Given the description of an element on the screen output the (x, y) to click on. 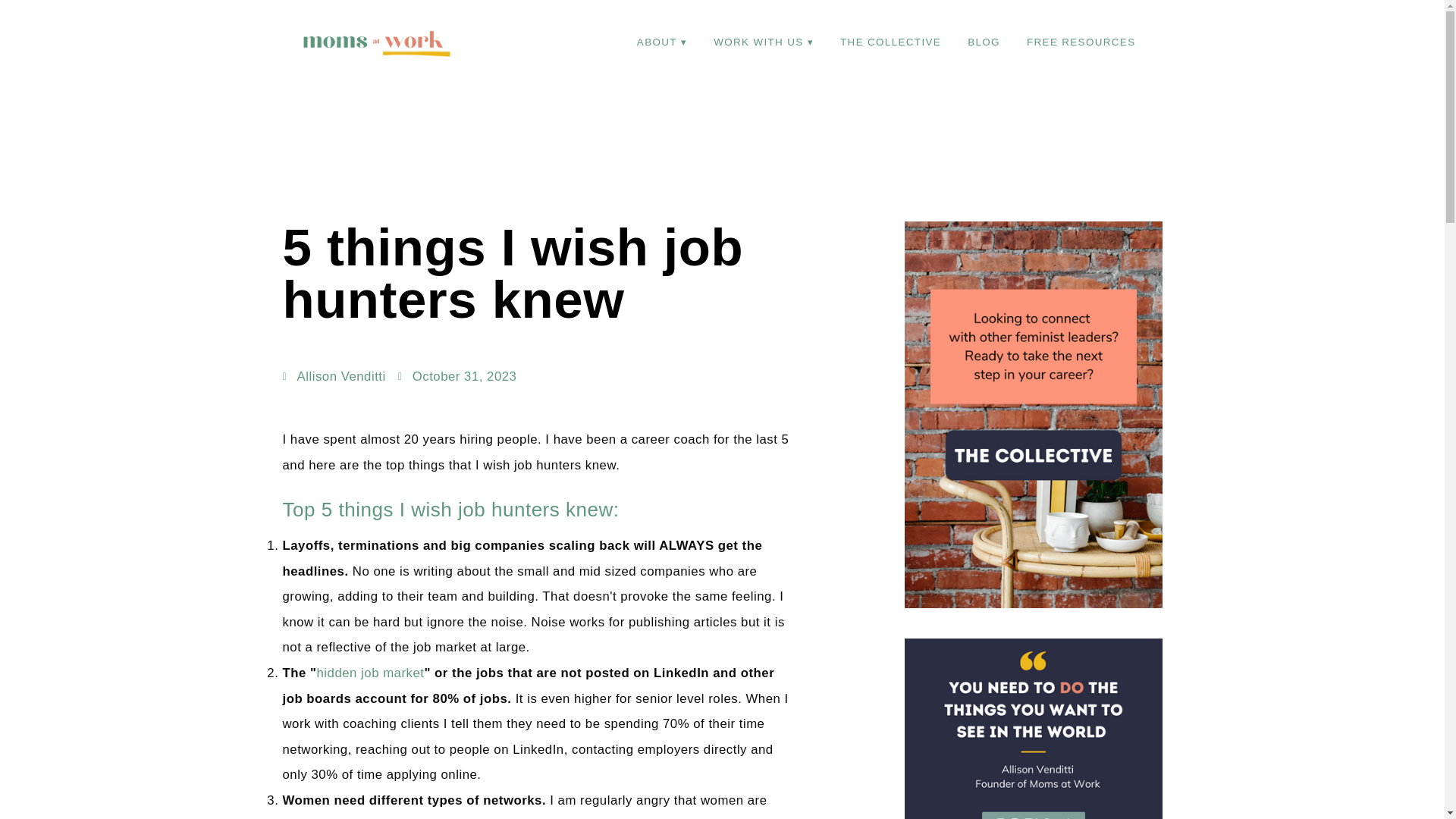
BLOG (983, 41)
WORK WITH US (763, 41)
THE COLLECTIVE (890, 41)
Allison Venditti (333, 376)
ABOUT (662, 41)
October 31, 2023 (456, 376)
hidden job market (369, 672)
FREE RESOURCES (1080, 41)
